Given the description of an element on the screen output the (x, y) to click on. 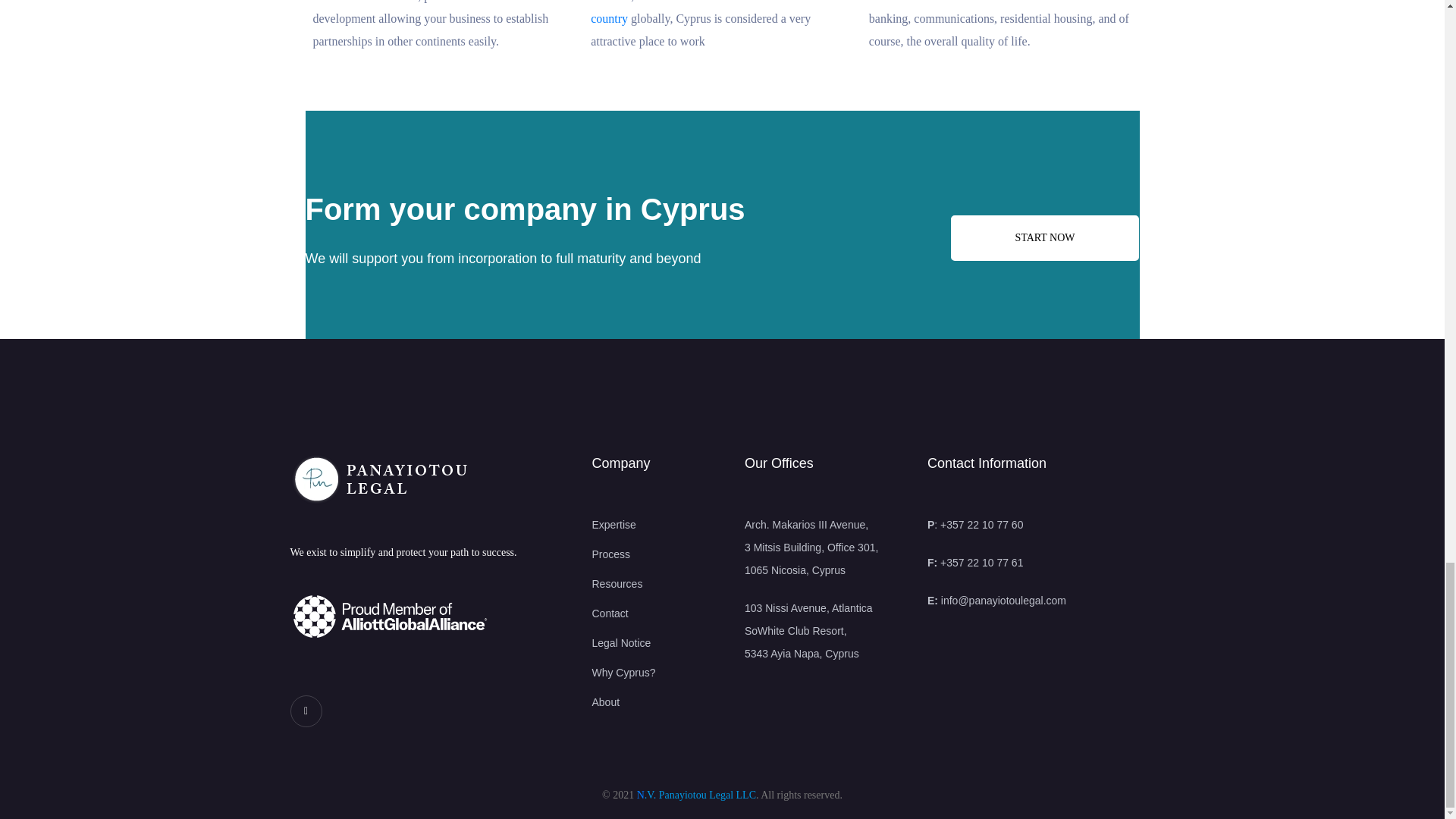
Why Cyprus? (656, 671)
About (656, 702)
5th safest country (713, 12)
Expertise (656, 524)
Contact (656, 612)
Resources (656, 583)
START NOW (1044, 238)
Process (656, 553)
Legal Notice (656, 642)
